Given the description of an element on the screen output the (x, y) to click on. 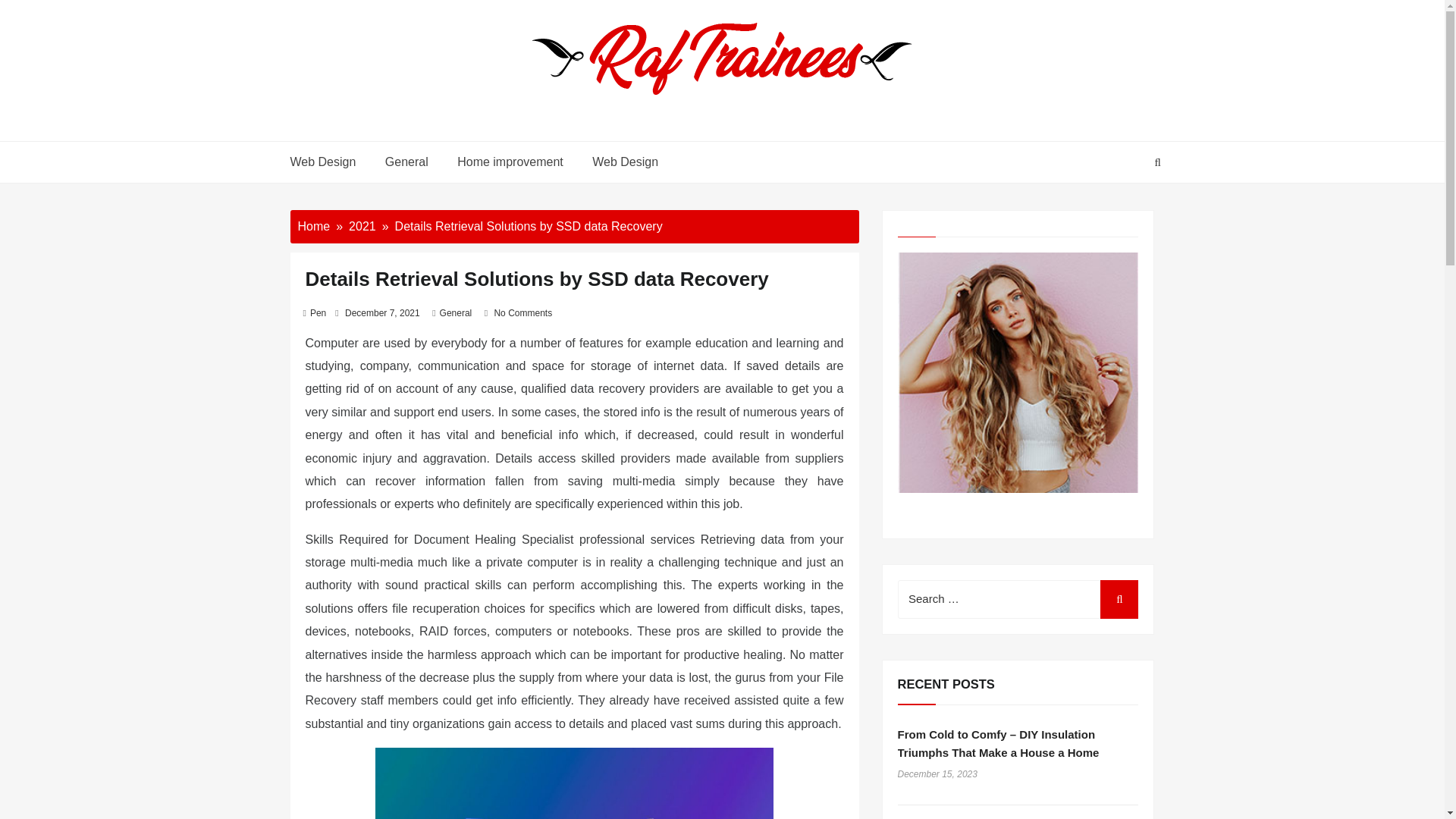
Web Design (622, 161)
No Comments (522, 312)
December 7, 2021 (382, 312)
2021 (362, 226)
Home (313, 226)
General (455, 312)
Home improvement (510, 161)
General (406, 161)
Web Design (328, 161)
Pen (318, 312)
